Given the description of an element on the screen output the (x, y) to click on. 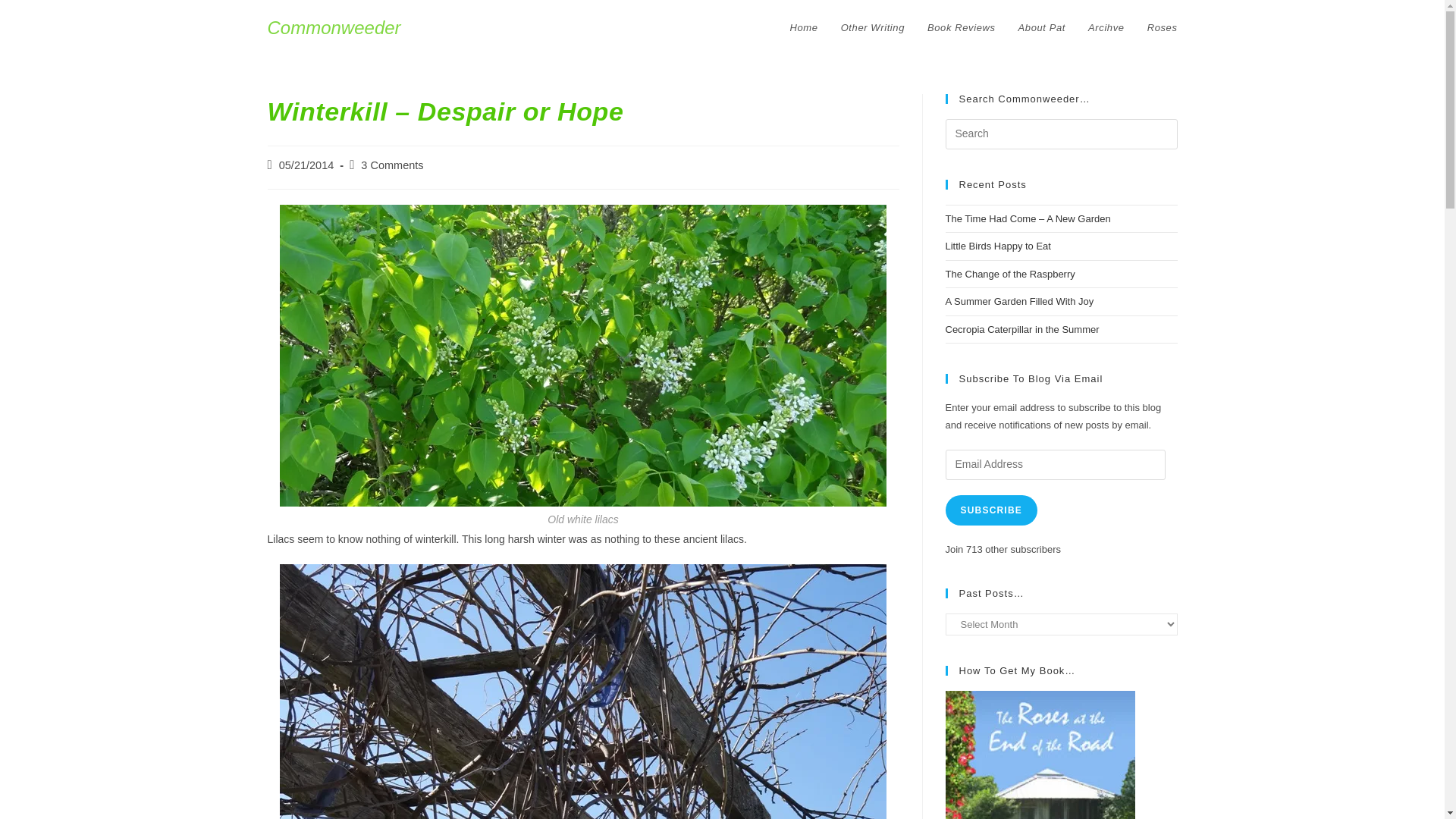
3 Comments (392, 164)
Other Writing (872, 28)
Home (803, 28)
Arcihve (1106, 28)
Commonweeder (333, 27)
Roses (1162, 28)
Book Reviews (961, 28)
About Pat (1042, 28)
